Given the description of an element on the screen output the (x, y) to click on. 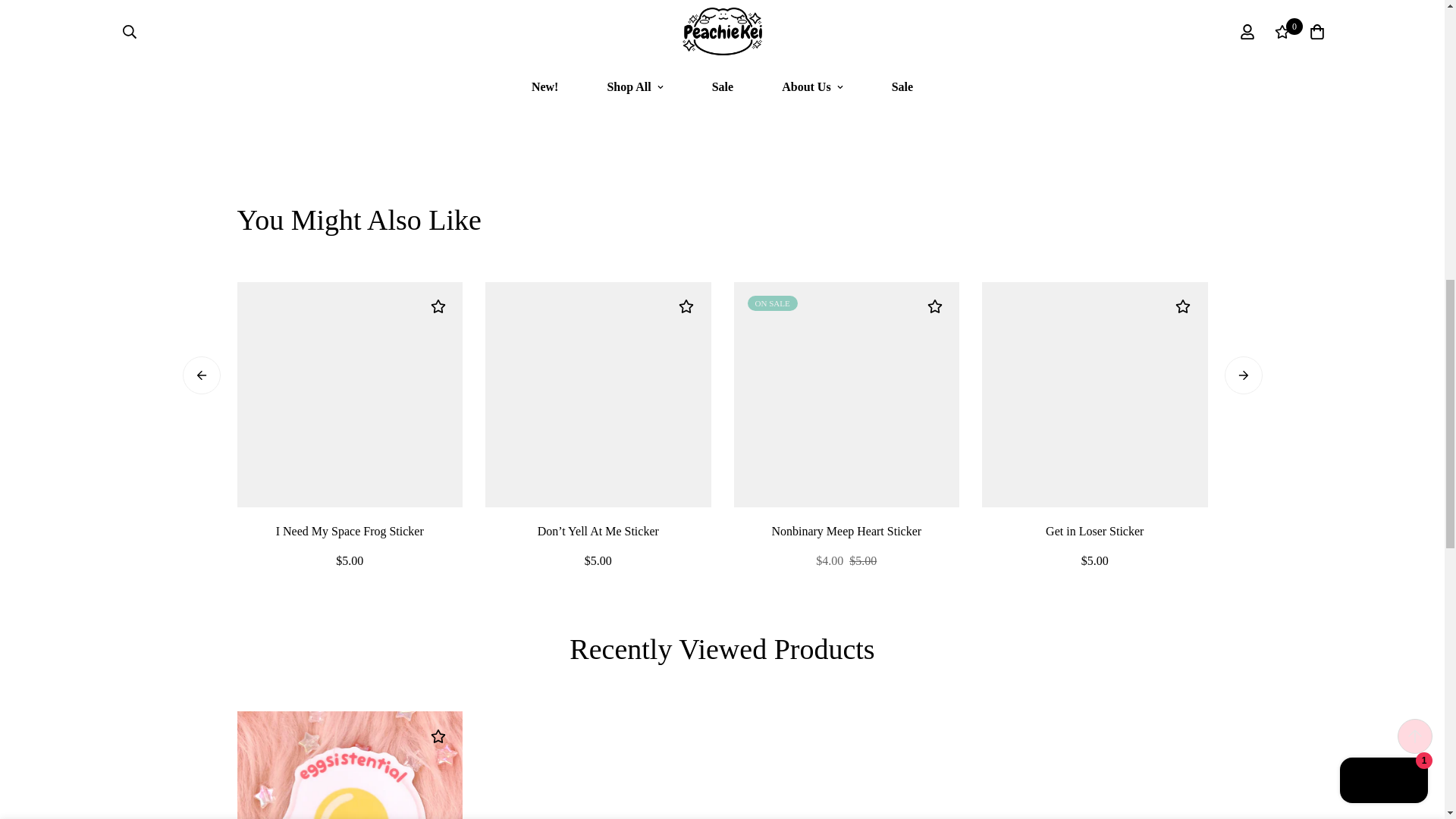
1 (1020, 28)
